Given the description of an element on the screen output the (x, y) to click on. 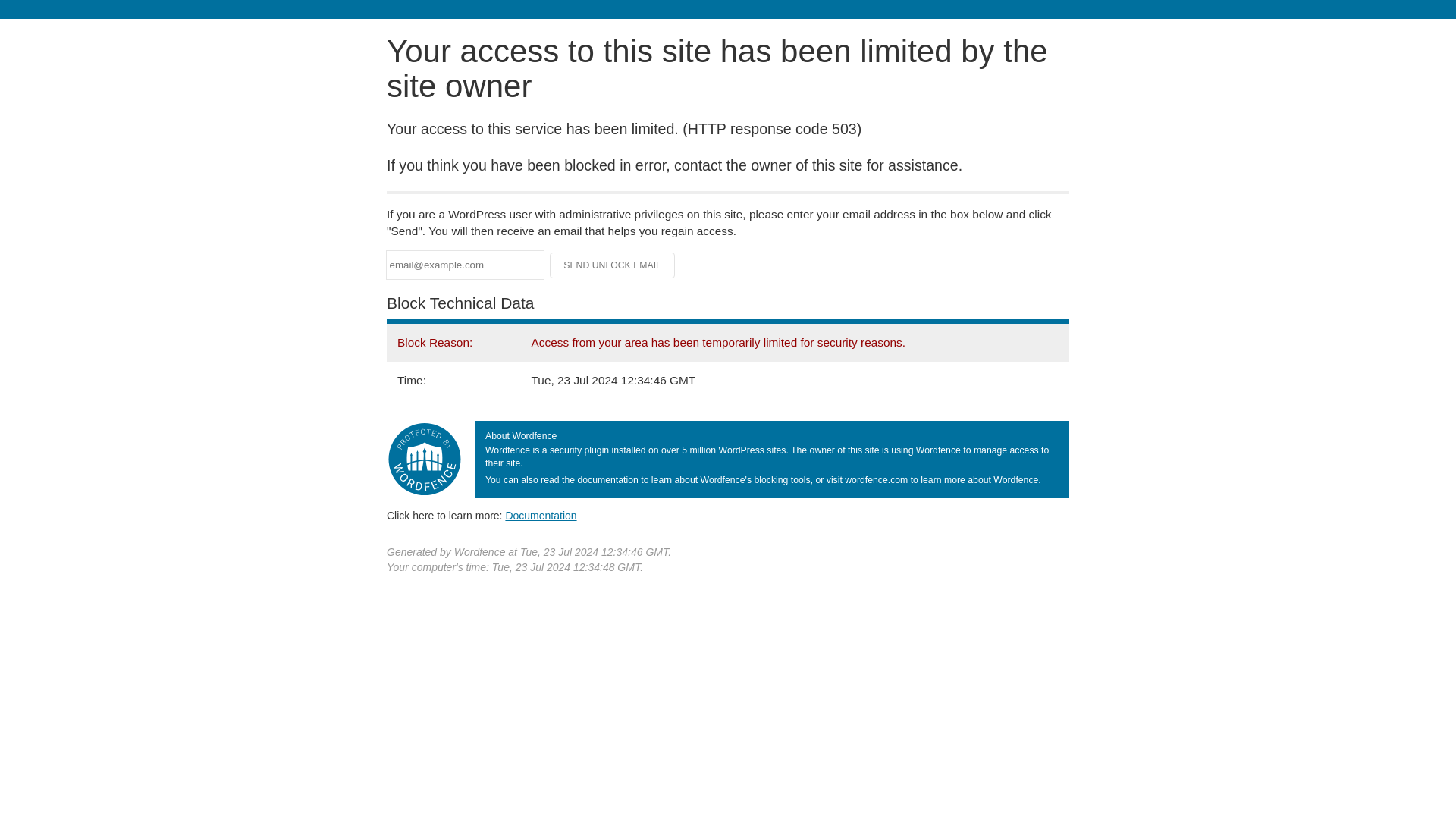
Documentation (540, 515)
Send Unlock Email (612, 265)
Send Unlock Email (612, 265)
